Given the description of an element on the screen output the (x, y) to click on. 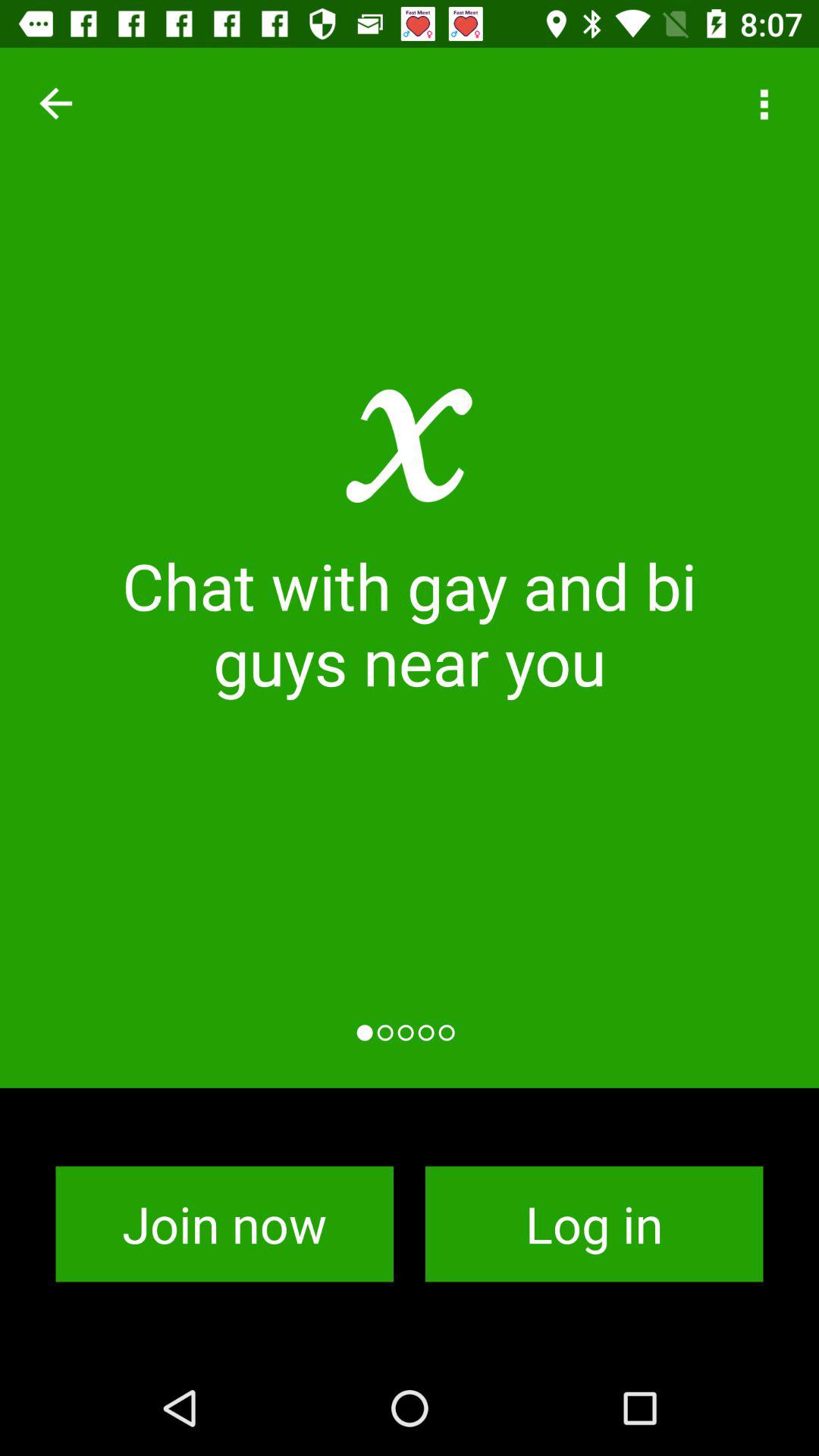
jump to the join now (224, 1223)
